Given the description of an element on the screen output the (x, y) to click on. 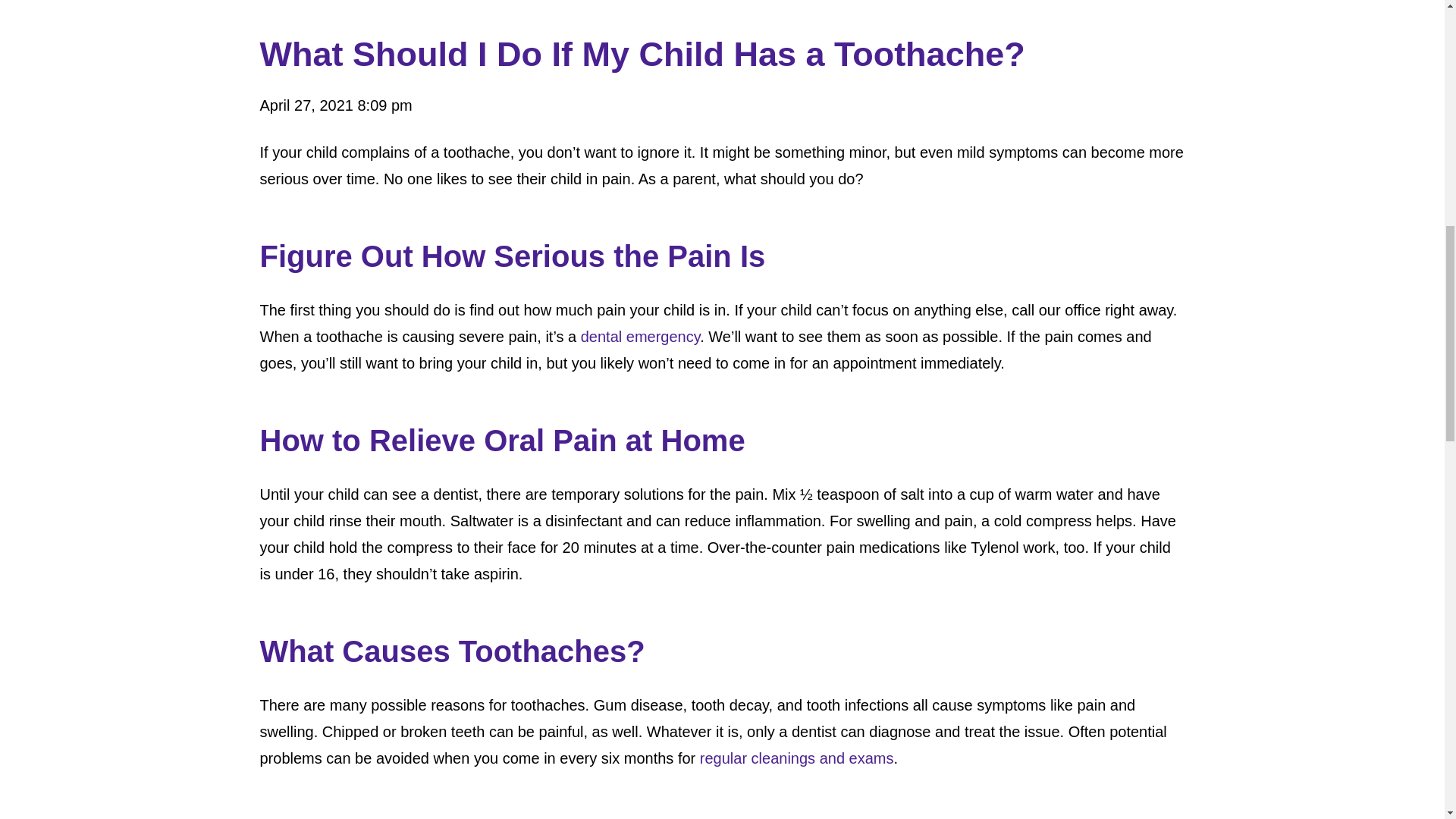
What Should I Do If My Child Has a Toothache? (722, 7)
dental emergency (640, 336)
regular cleanings and exams (796, 758)
